Given the description of an element on the screen output the (x, y) to click on. 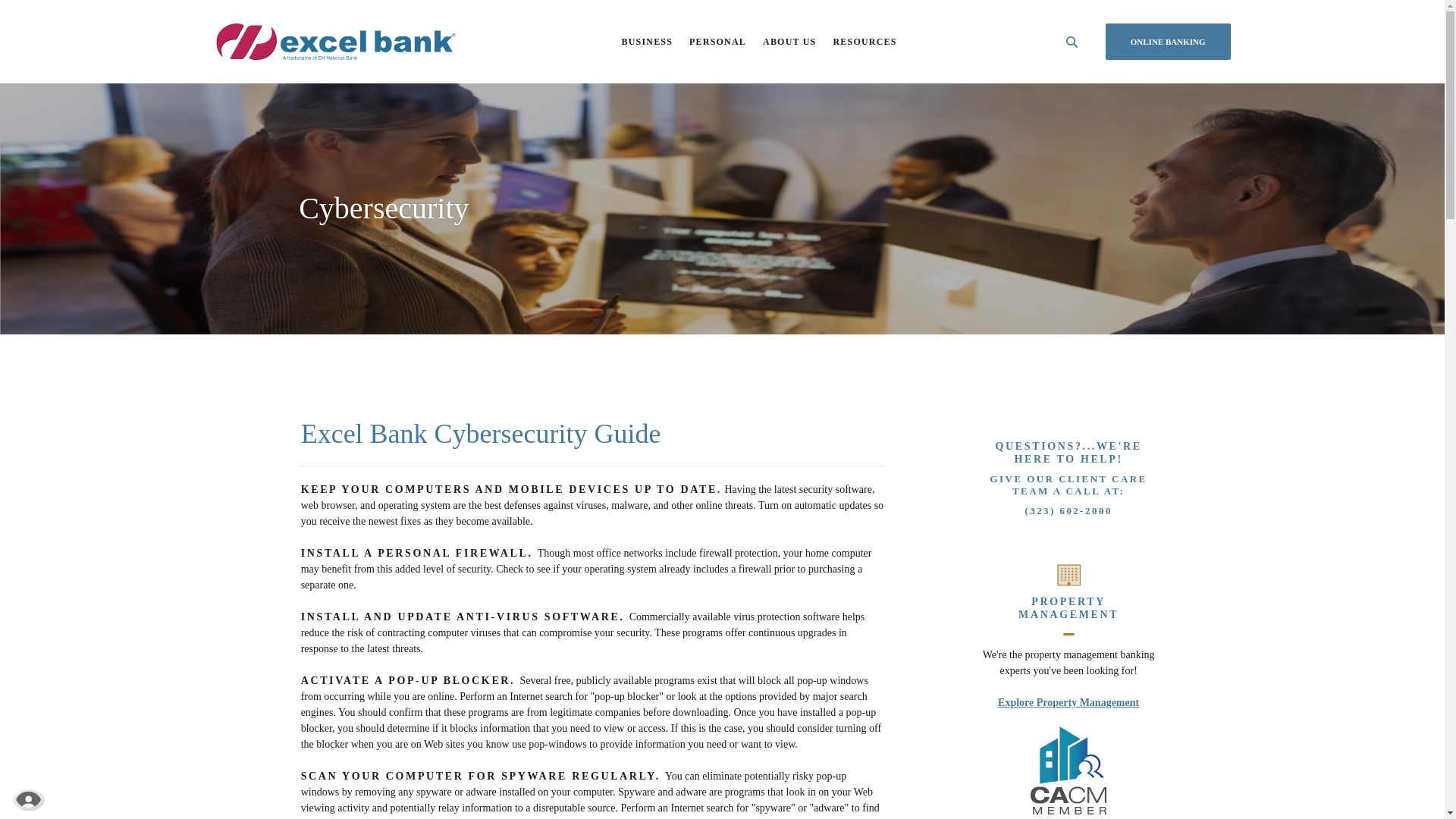
ONLINE BANKING Element type: text (1167, 41)
Explore Property Management Element type: text (1068, 702)
